Given the description of an element on the screen output the (x, y) to click on. 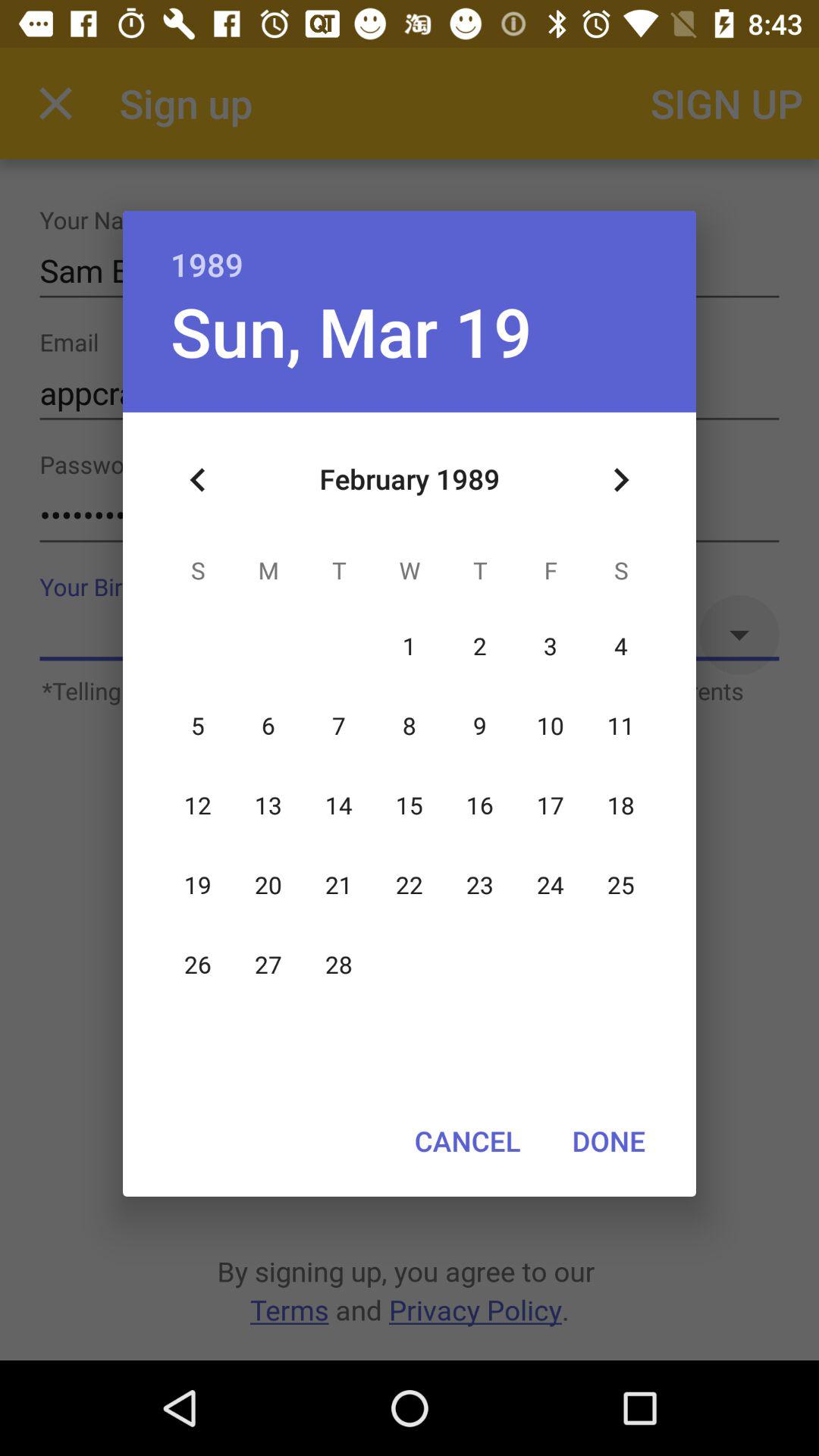
turn on item above the done item (620, 479)
